Given the description of an element on the screen output the (x, y) to click on. 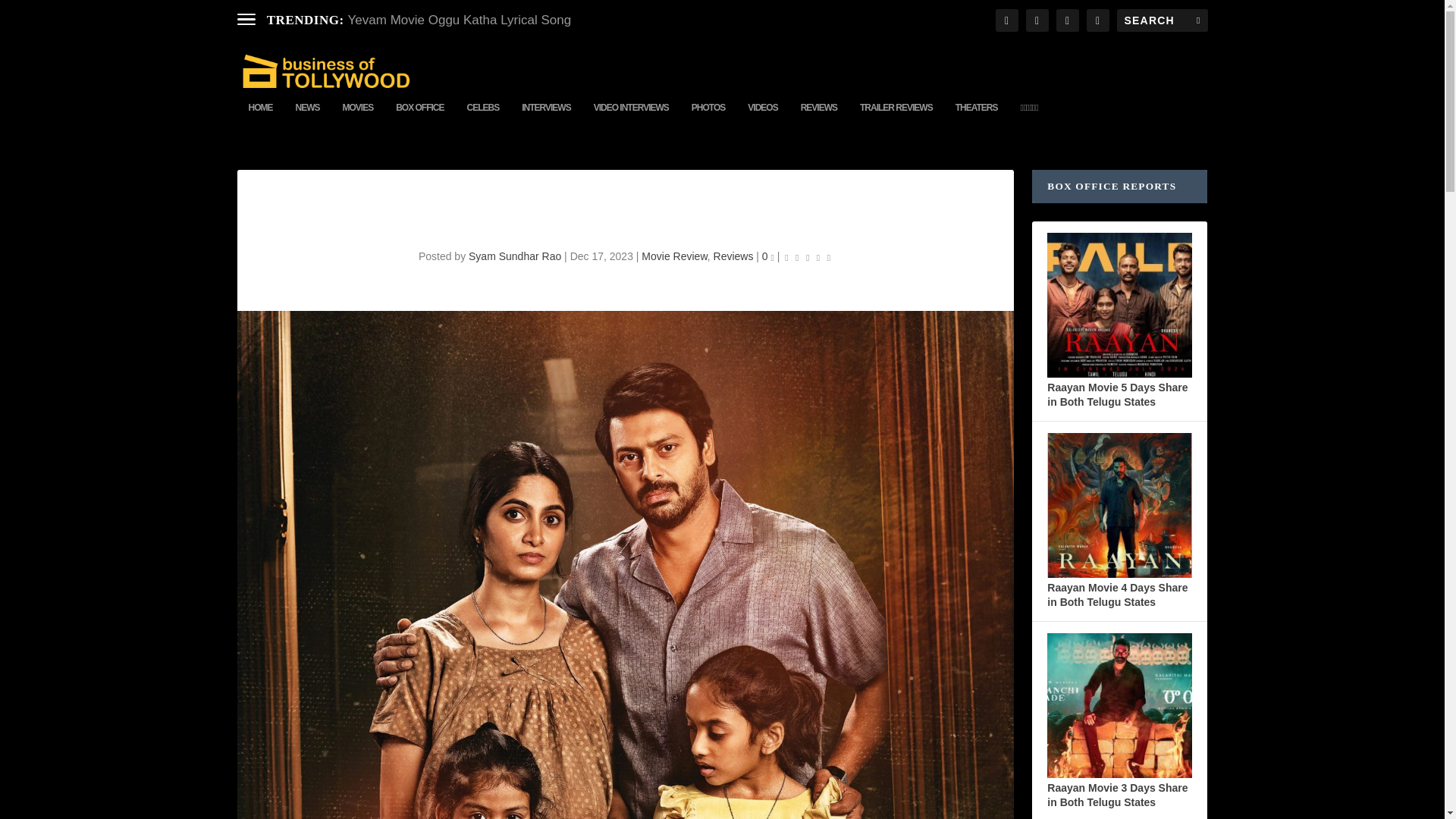
Rating: 0.00 (807, 256)
REVIEWS (818, 120)
BOX OFFICE (420, 120)
Yevam Movie Oggu Katha Lyrical Song (459, 20)
THEATERS (976, 120)
VIDEO INTERVIEWS (631, 120)
Posts by Syam Sundhar Rao (514, 256)
INTERVIEWS (545, 120)
TRAILER REVIEWS (896, 120)
Search for: (1161, 20)
